Given the description of an element on the screen output the (x, y) to click on. 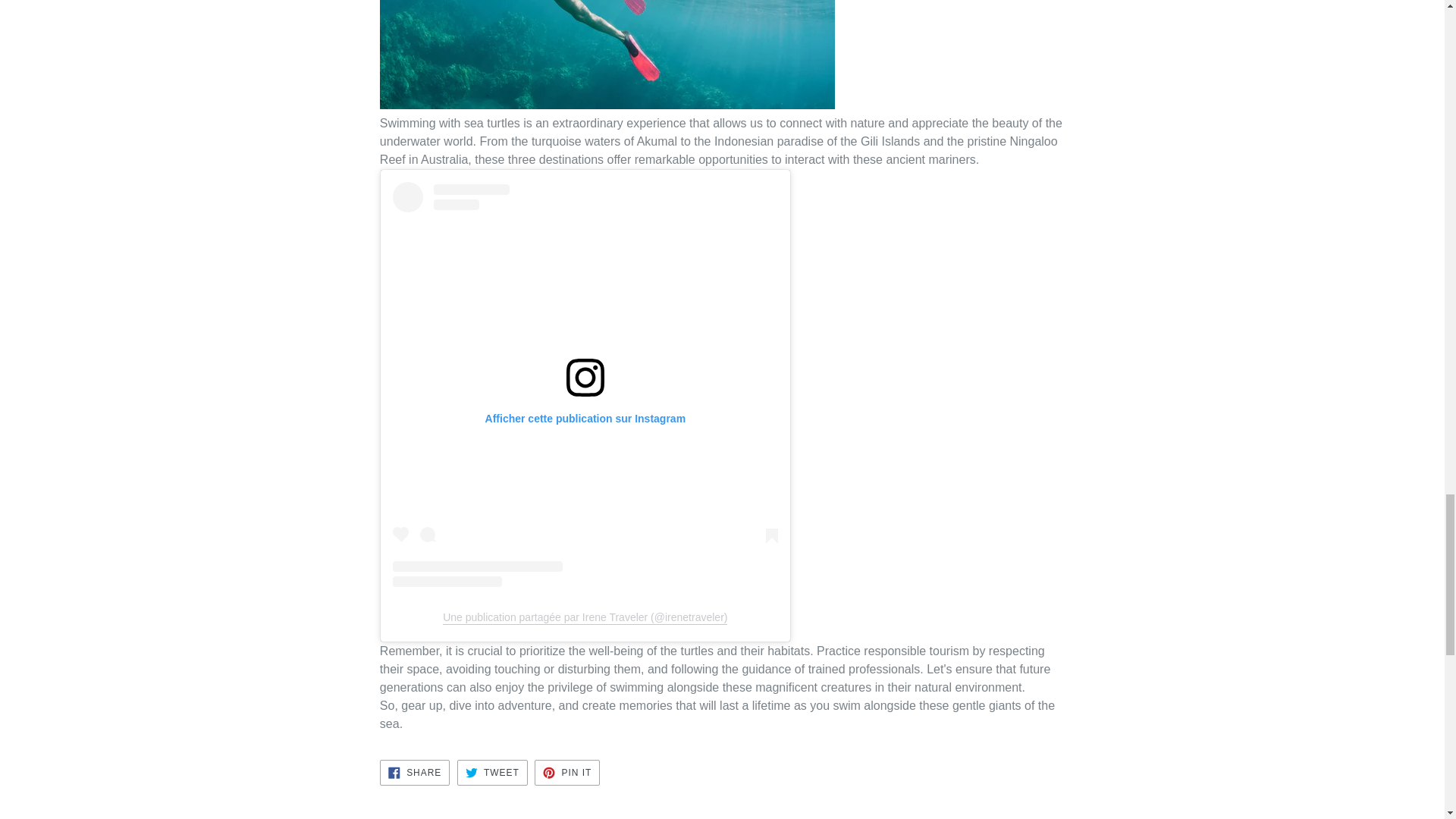
Pin on Pinterest (566, 772)
Tweet on Twitter (414, 772)
Afficher cette publication sur Instagram (492, 772)
Share on Facebook (492, 772)
